Given the description of an element on the screen output the (x, y) to click on. 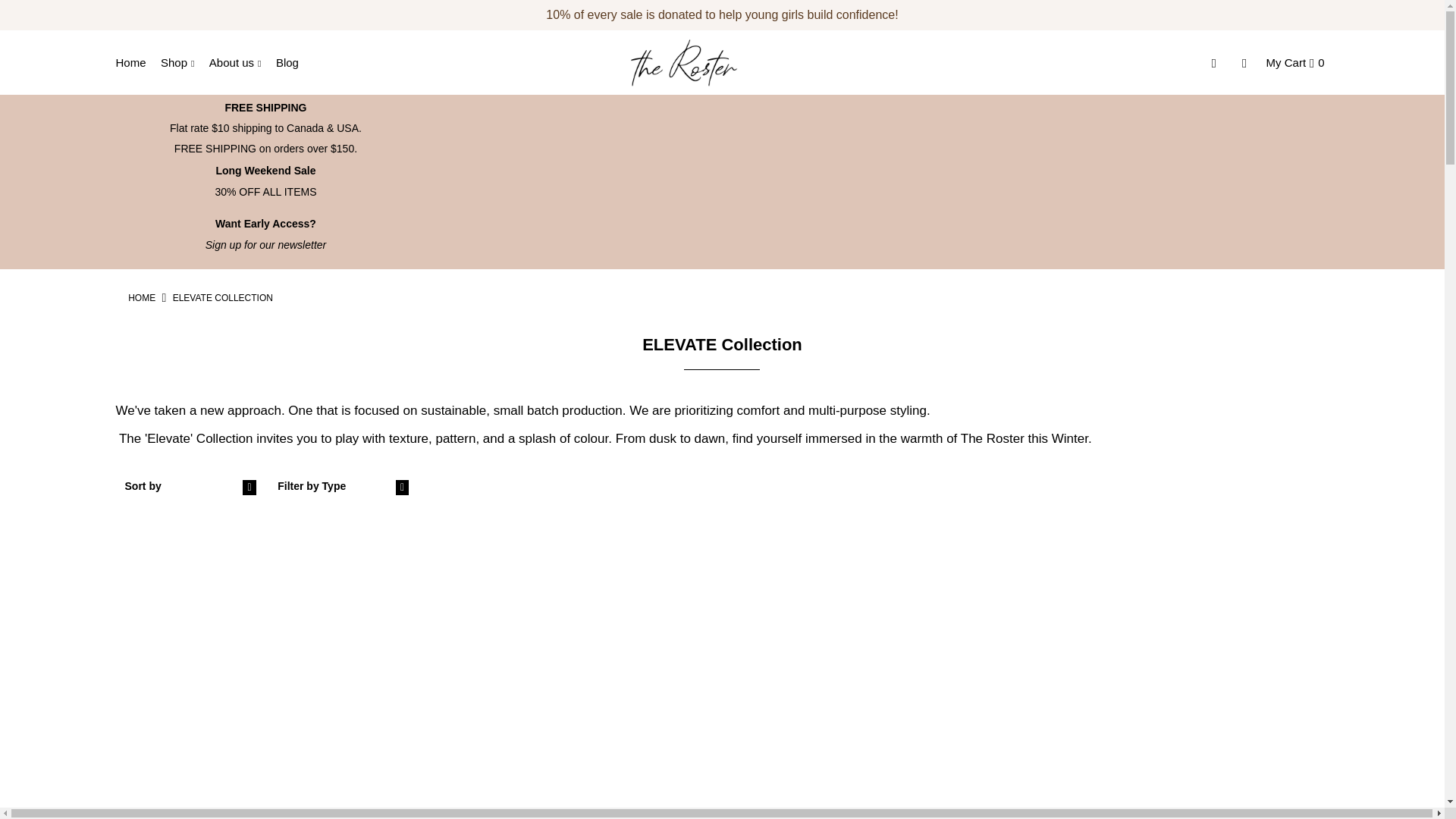
Shop (182, 62)
Home (141, 297)
Home (264, 234)
